Given the description of an element on the screen output the (x, y) to click on. 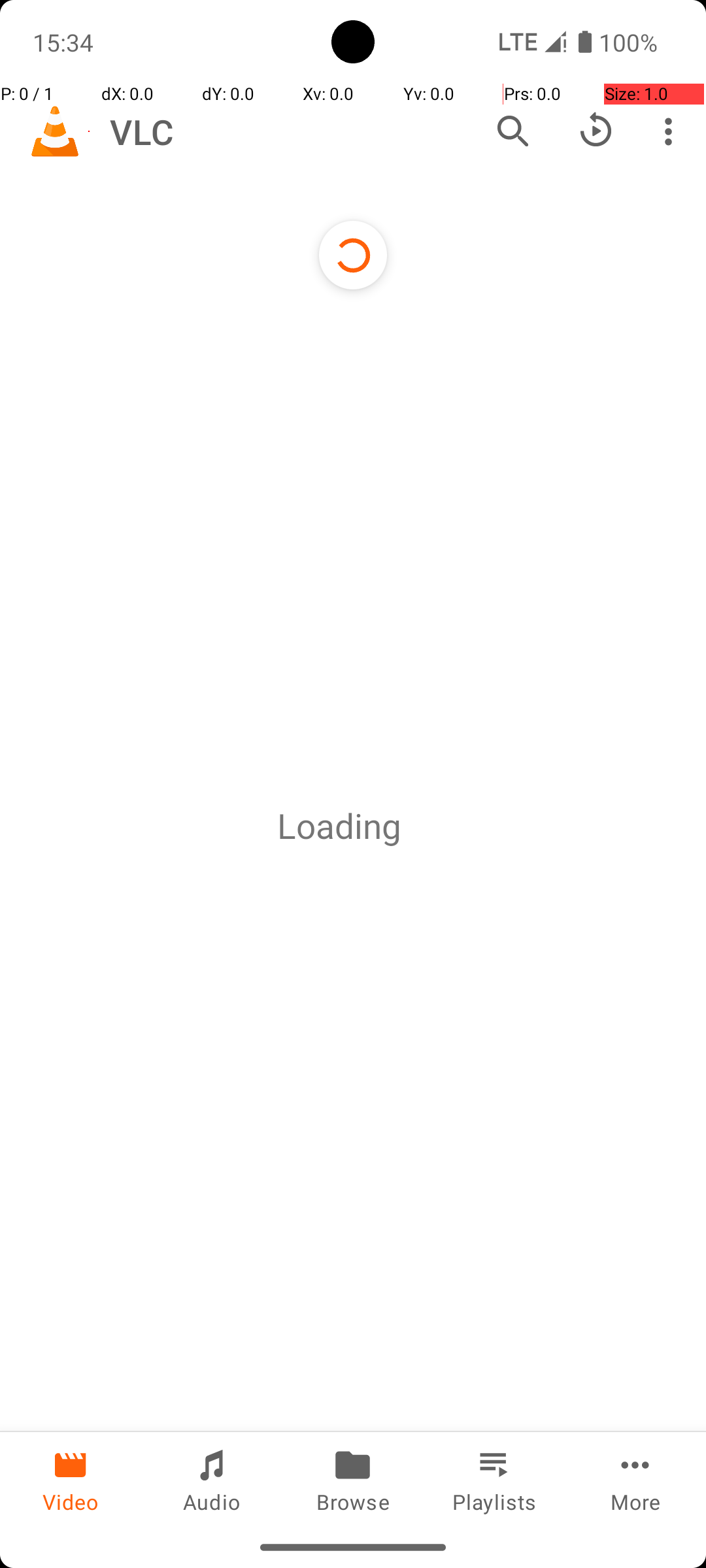
Resume playback Element type: android.widget.TextView (595, 131)
